Given the description of an element on the screen output the (x, y) to click on. 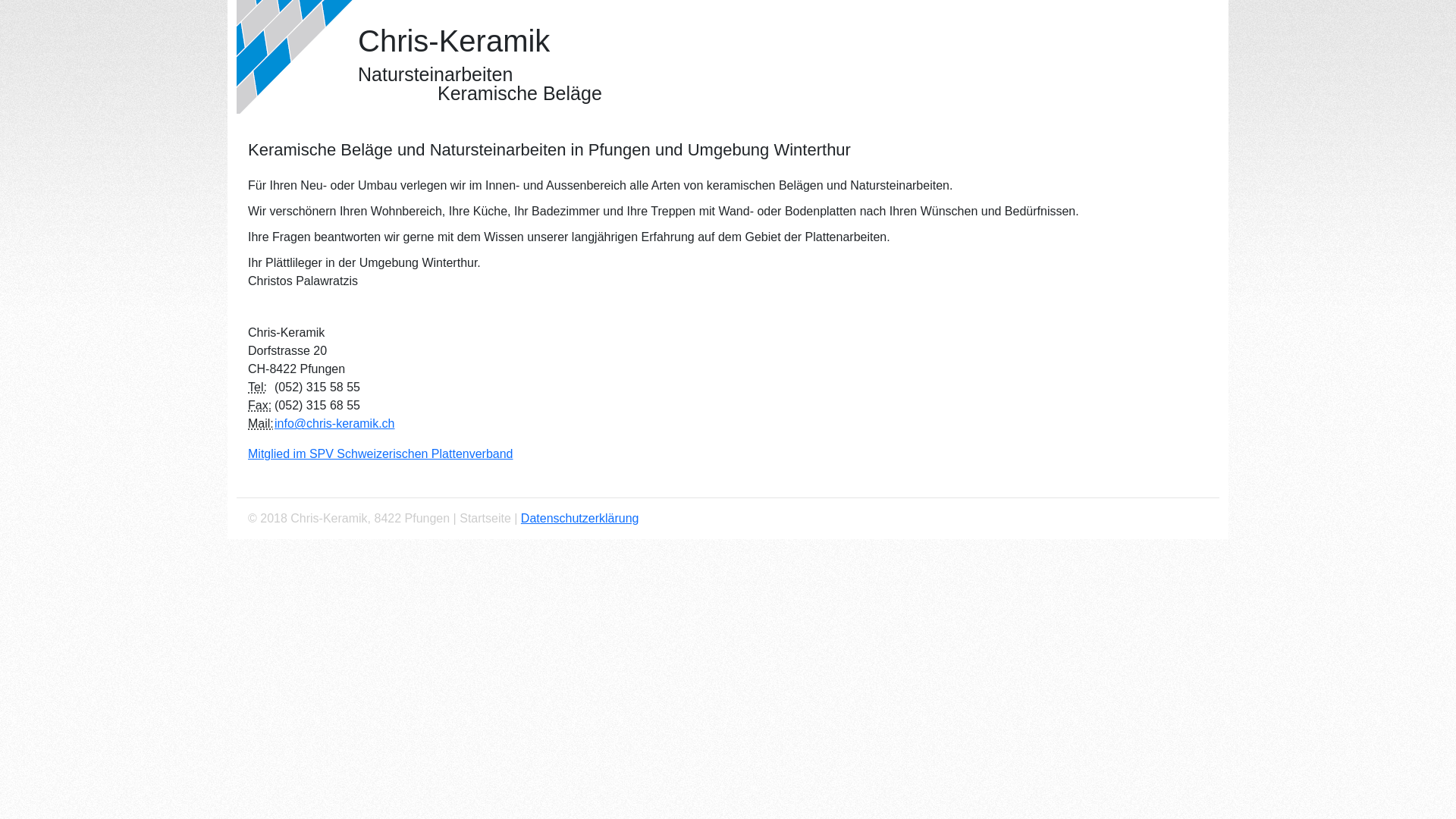
info@chris-keramik.ch Element type: text (334, 423)
Mitglied im SPV Schweizerischen Plattenverband Element type: text (380, 453)
